Given the description of an element on the screen output the (x, y) to click on. 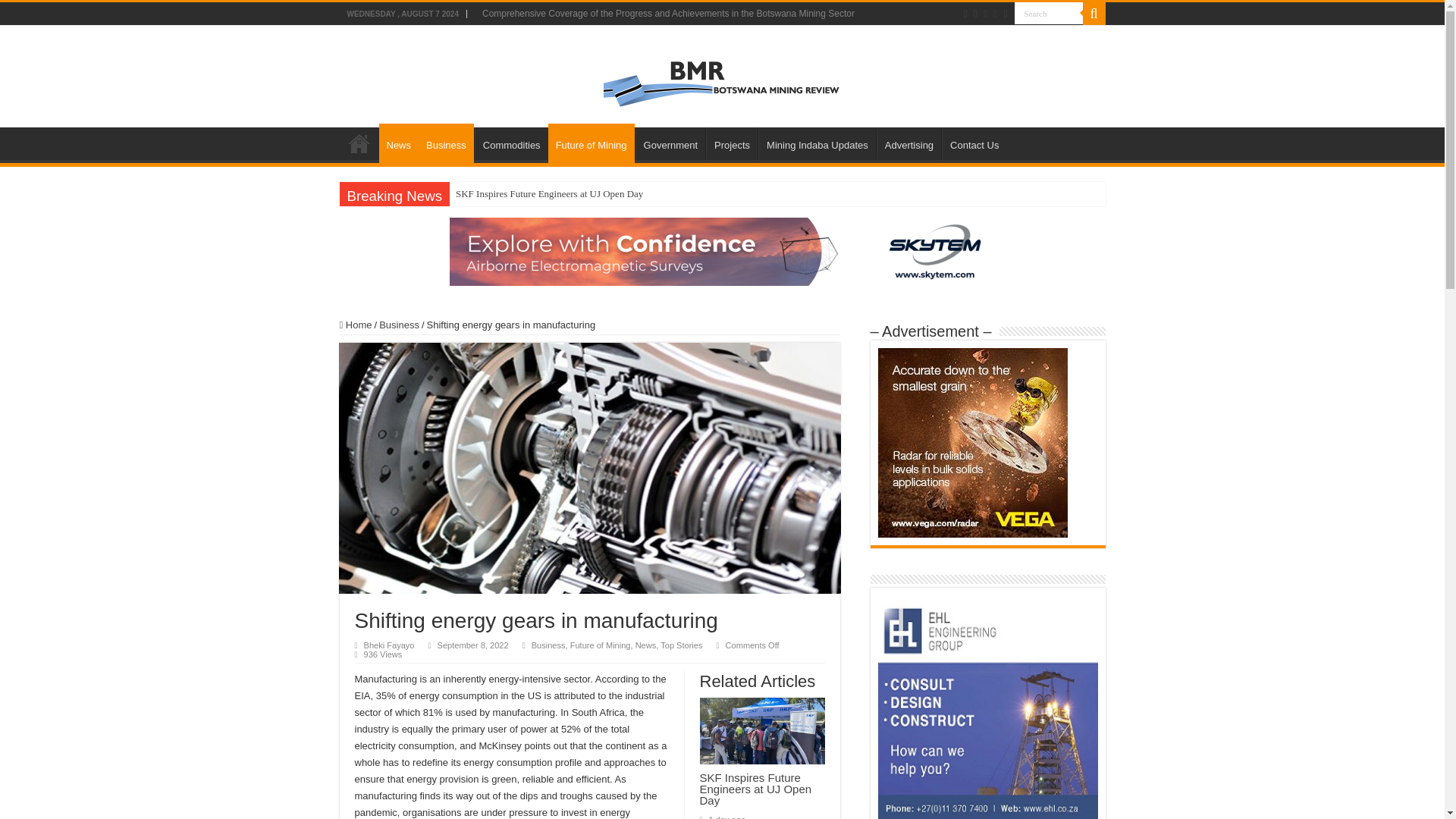
Commodities (511, 142)
Government (670, 142)
SKF Inspires Future Engineers at UJ Open Day (549, 193)
Advertising (908, 142)
Search (1048, 13)
Search (1048, 13)
Search (1094, 13)
Home (358, 142)
Future of Mining (591, 142)
Botswana Mining Review (722, 73)
Projects (731, 142)
SKF Inspires Future Engineers at UJ Open Day (549, 193)
Business (446, 142)
Mining Indaba Updates (817, 142)
